Given the description of an element on the screen output the (x, y) to click on. 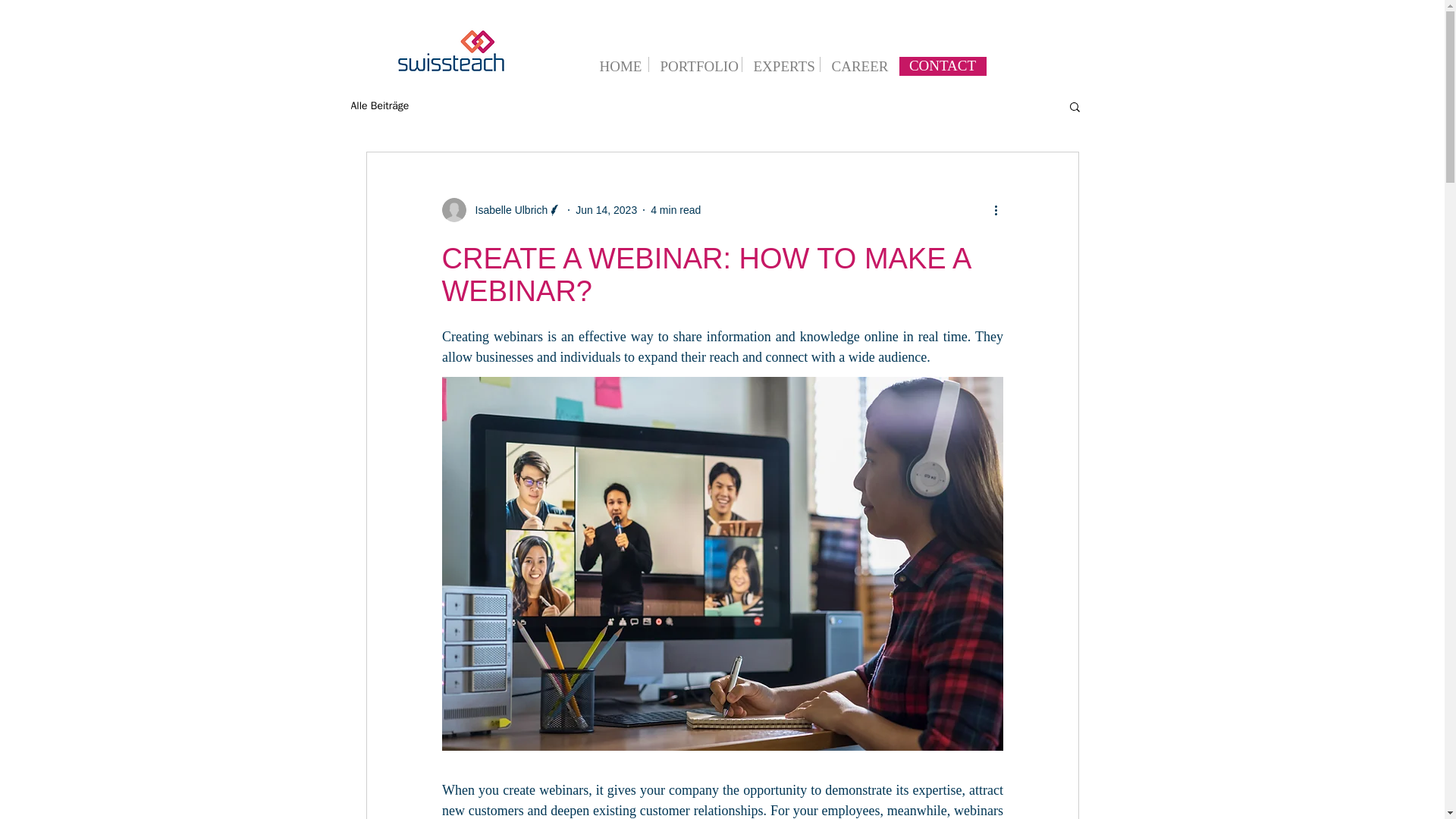
HOME (617, 64)
CAREER (856, 64)
EXPERTS (779, 64)
PORTFOLIO (695, 64)
Isabelle Ulbrich (506, 209)
4 min read (675, 209)
CONTACT (943, 66)
Jun 14, 2023 (606, 209)
